Given the description of an element on the screen output the (x, y) to click on. 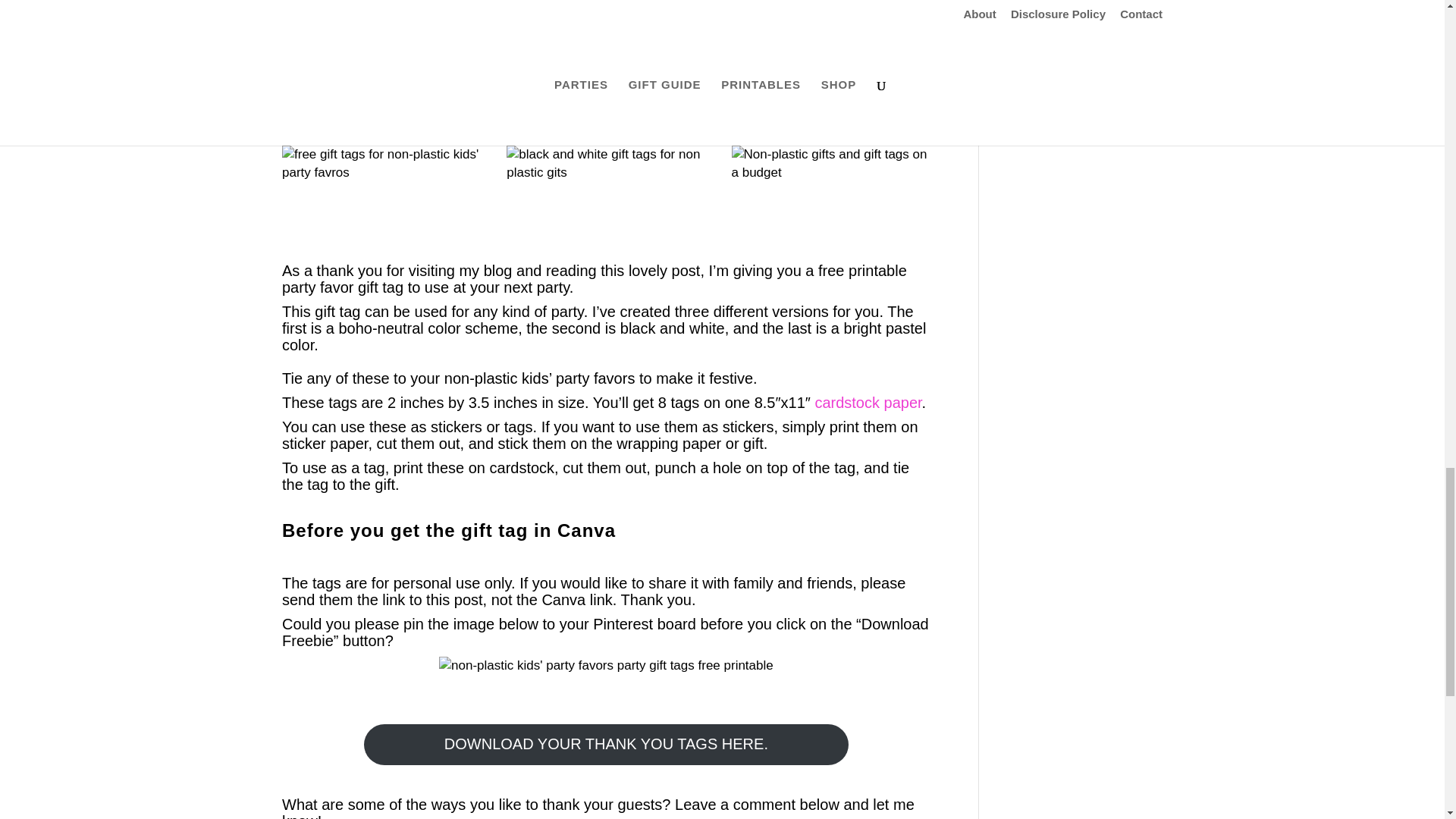
Mermaid party bundle (831, 46)
cardstock paper (867, 402)
DOWNLOAD YOUR THANK YOU TAGS HERE. (606, 743)
